Given the description of an element on the screen output the (x, y) to click on. 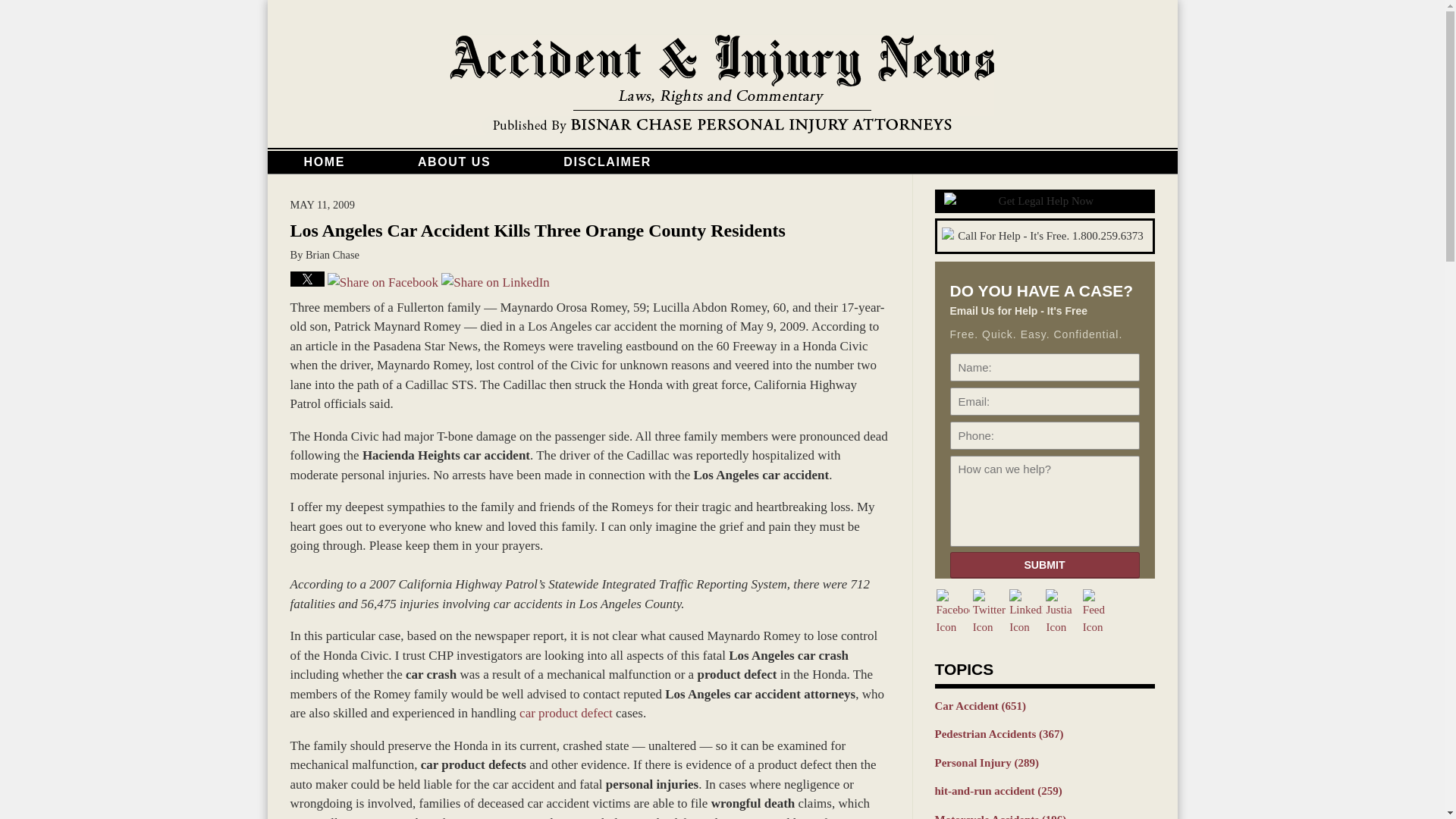
California Injury Blog (721, 84)
ABOUT US (454, 161)
SUBMIT (1043, 565)
Please enter a valid phone number. (1043, 435)
HOME (323, 161)
DISCLAIMER (607, 161)
car product defect (565, 712)
